Given the description of an element on the screen output the (x, y) to click on. 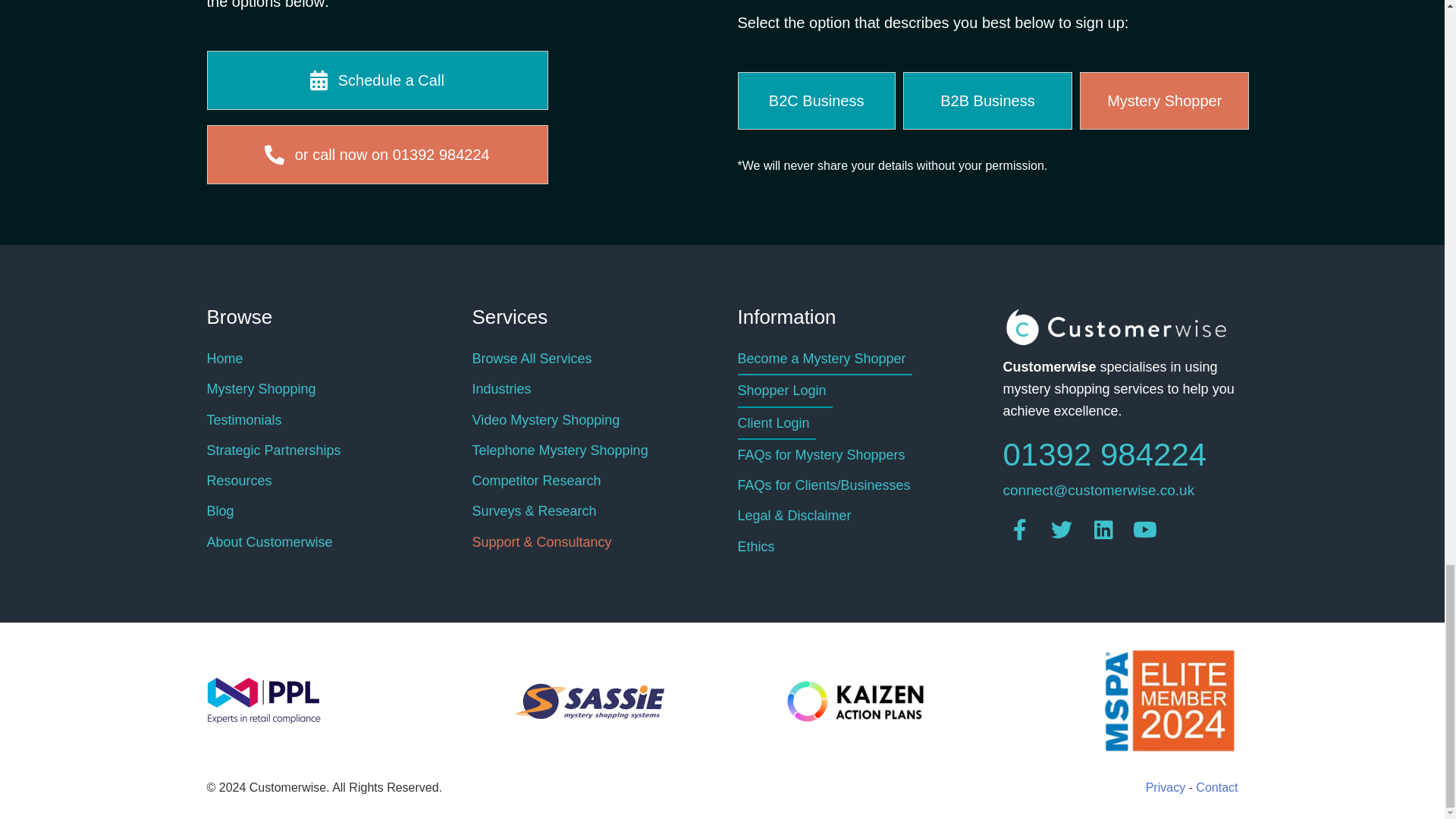
logo-sassie-logo-wide (589, 701)
YouTube (1144, 530)
Kaizen Action Plans (855, 700)
PPL (263, 700)
Twitter (1061, 530)
customer-wise-logo-white-web (1116, 326)
LinkedIn (1102, 530)
